Given the description of an element on the screen output the (x, y) to click on. 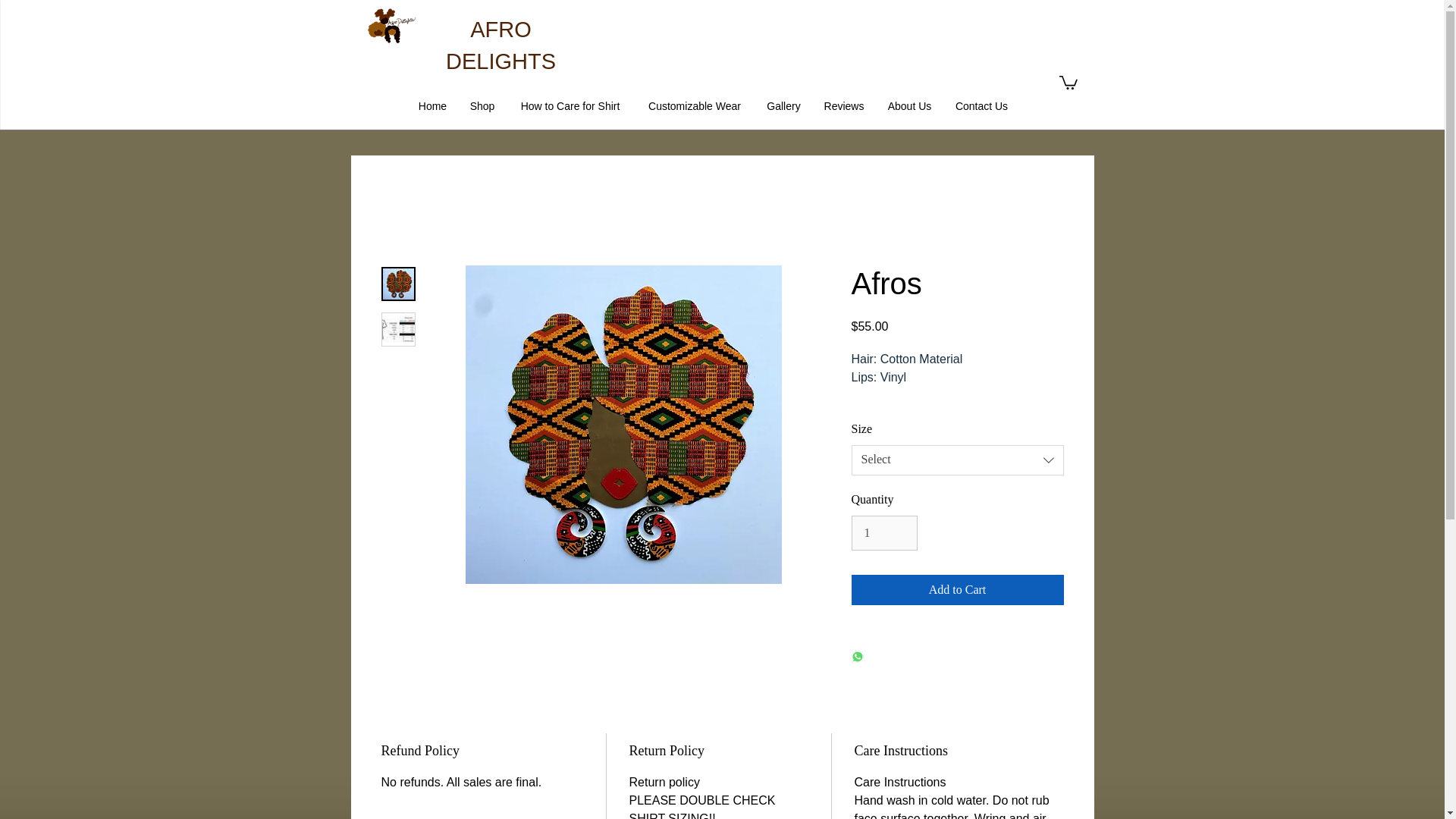
How to Care for Shirt (570, 106)
Gallery (783, 106)
Shop (481, 106)
Reviews (844, 106)
Contact Us (981, 106)
Select (956, 460)
About Us (909, 106)
Customizable Wear (693, 106)
Add to Cart (956, 589)
1 (883, 532)
Home (432, 106)
